Given the description of an element on the screen output the (x, y) to click on. 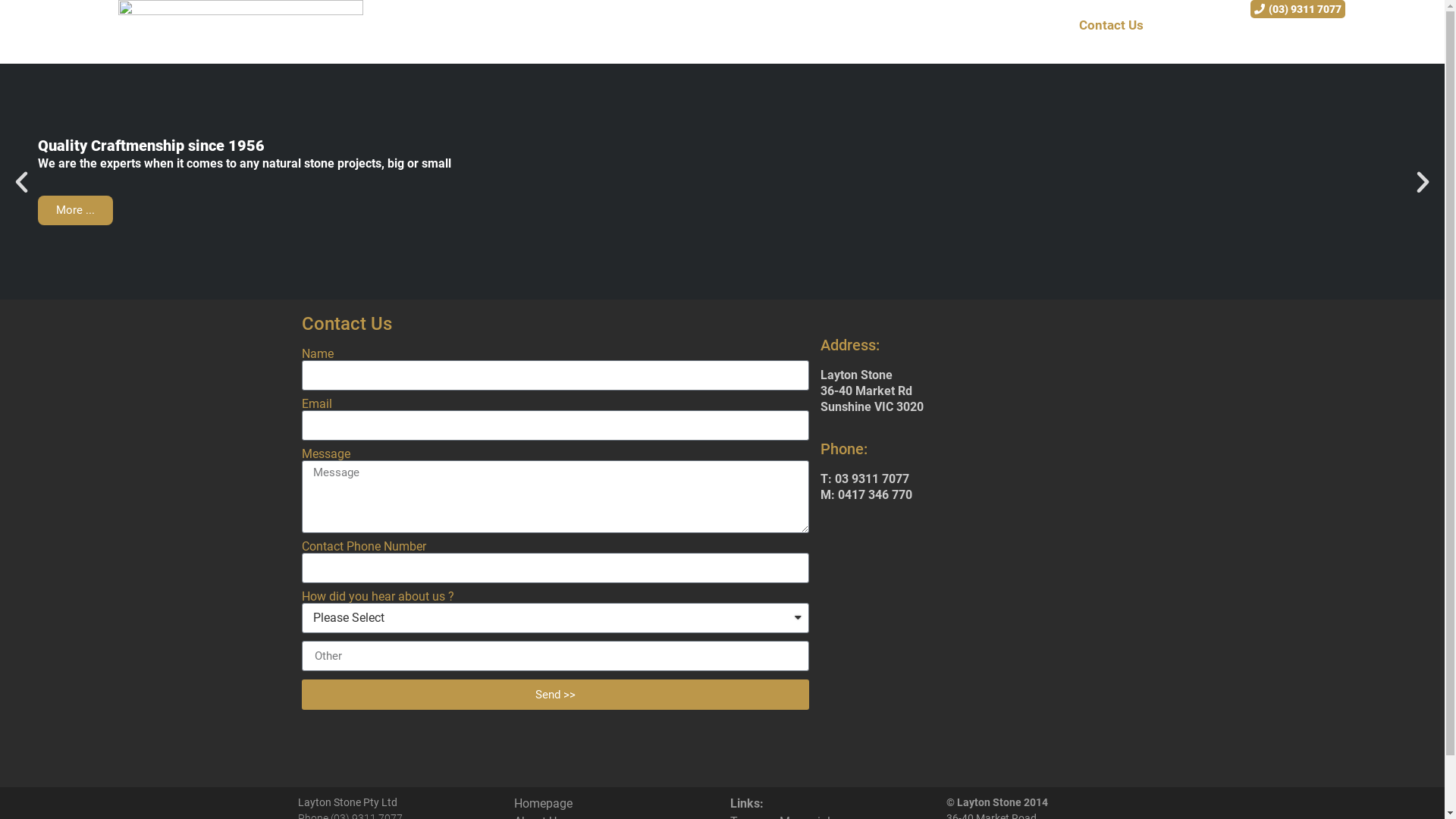
Contact Us Element type: text (1111, 24)
More ... Element type: text (74, 210)
(03) 9311 7077 Element type: text (1297, 9)
Homepage Element type: text (543, 803)
Products Element type: text (851, 24)
About Element type: text (606, 24)
Send >> Element type: text (555, 694)
36 Market Road Sunshine 3020 Element type: hover (987, 642)
